Given the description of an element on the screen output the (x, y) to click on. 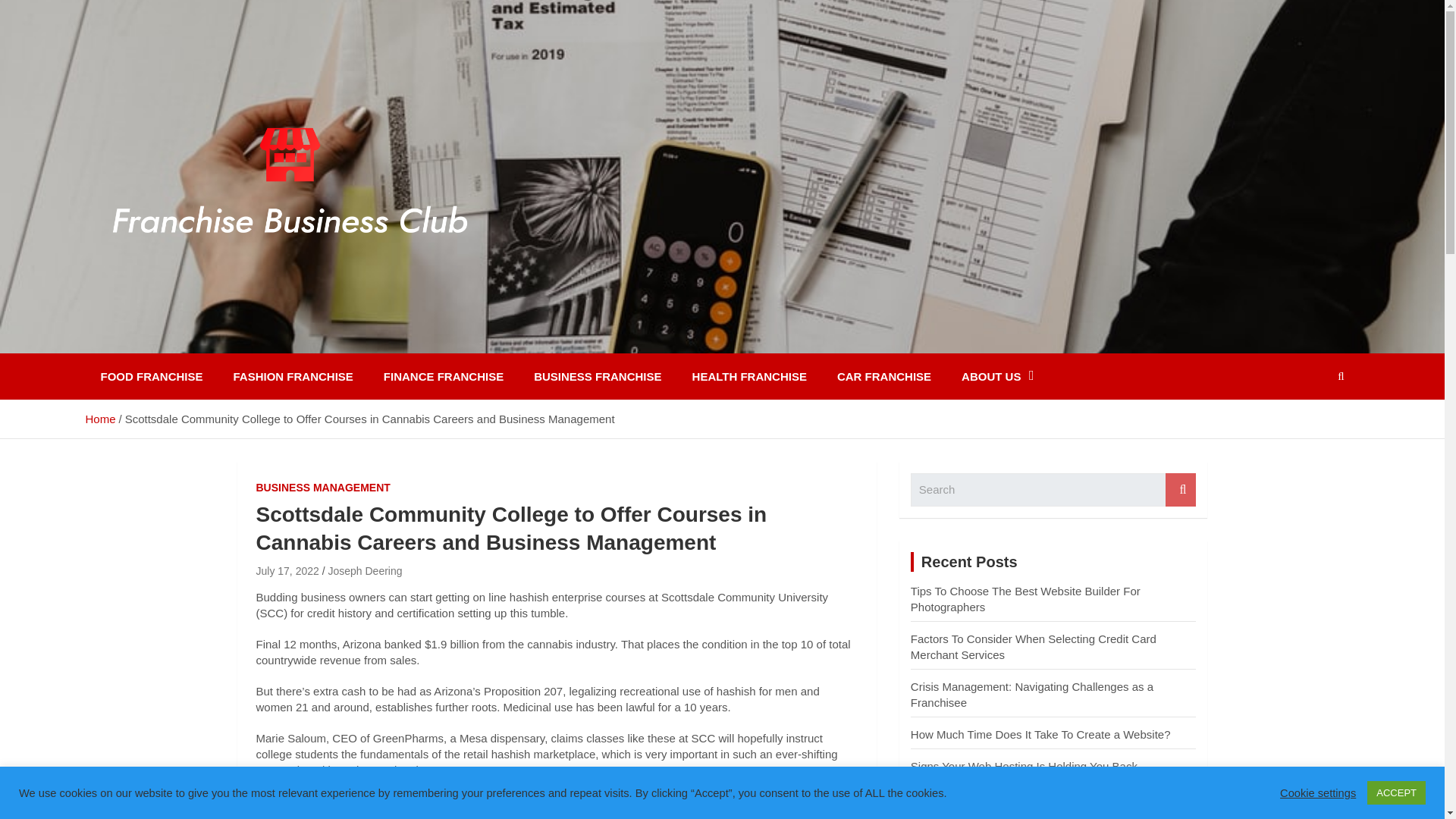
Search (1180, 489)
ABOUT US (997, 375)
July 17, 2022 (287, 571)
BUSINESS MANAGEMENT (323, 488)
Tips To Choose The Best Website Builder For Photographers (1025, 598)
FOOD FRANCHISE (150, 375)
Home (99, 418)
FINANCE FRANCHISE (443, 375)
CAR FRANCHISE (884, 375)
